Given the description of an element on the screen output the (x, y) to click on. 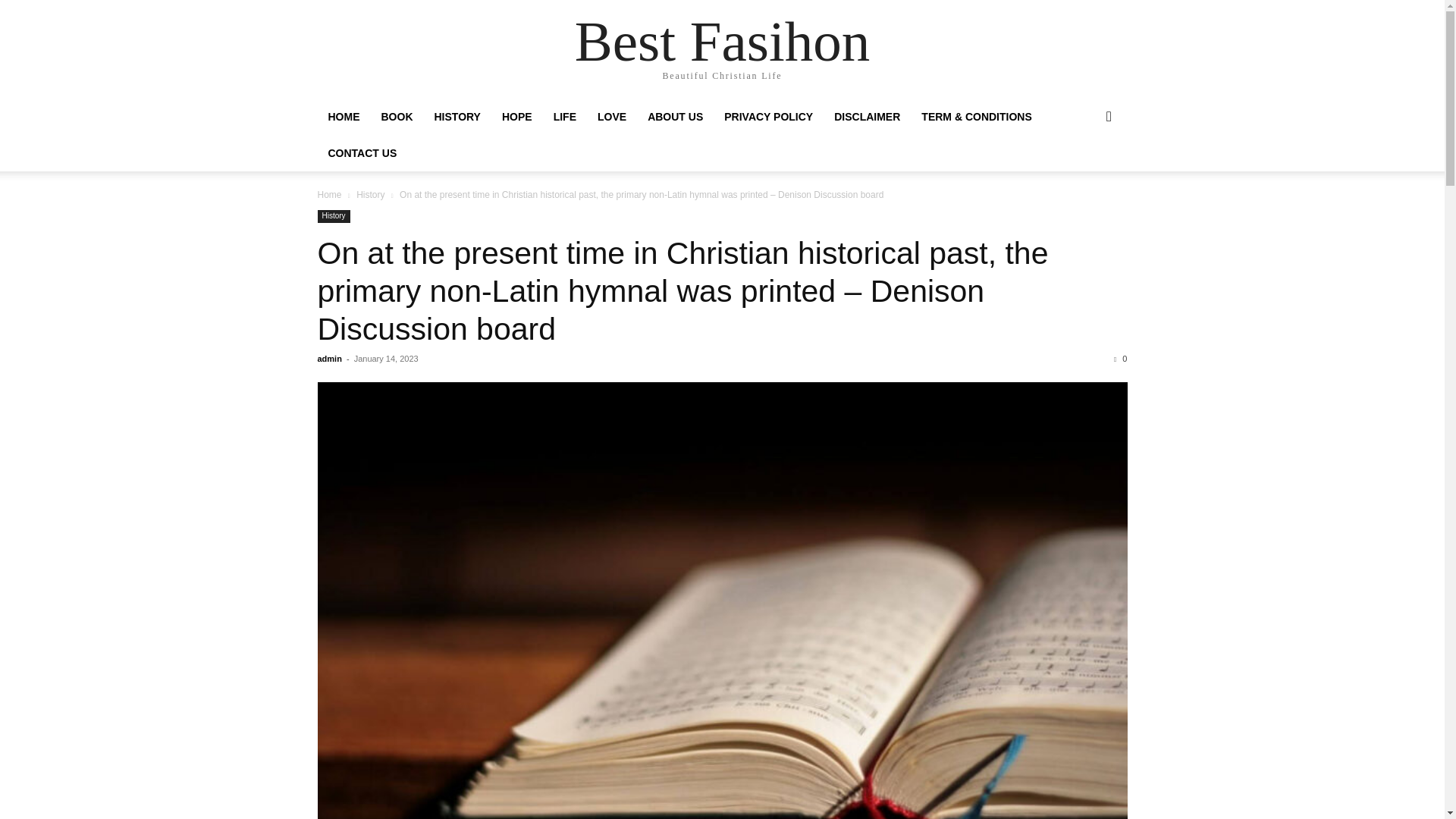
HOPE (517, 116)
View all posts in History (370, 194)
0 (1119, 358)
HOME (343, 116)
Best Fasihon (722, 41)
Search (1085, 177)
LIFE (564, 116)
BOOK (396, 116)
HISTORY (456, 116)
LOVE (611, 116)
History (370, 194)
PRIVACY POLICY (768, 116)
History (333, 215)
admin (328, 358)
CONTACT US (362, 152)
